Given the description of an element on the screen output the (x, y) to click on. 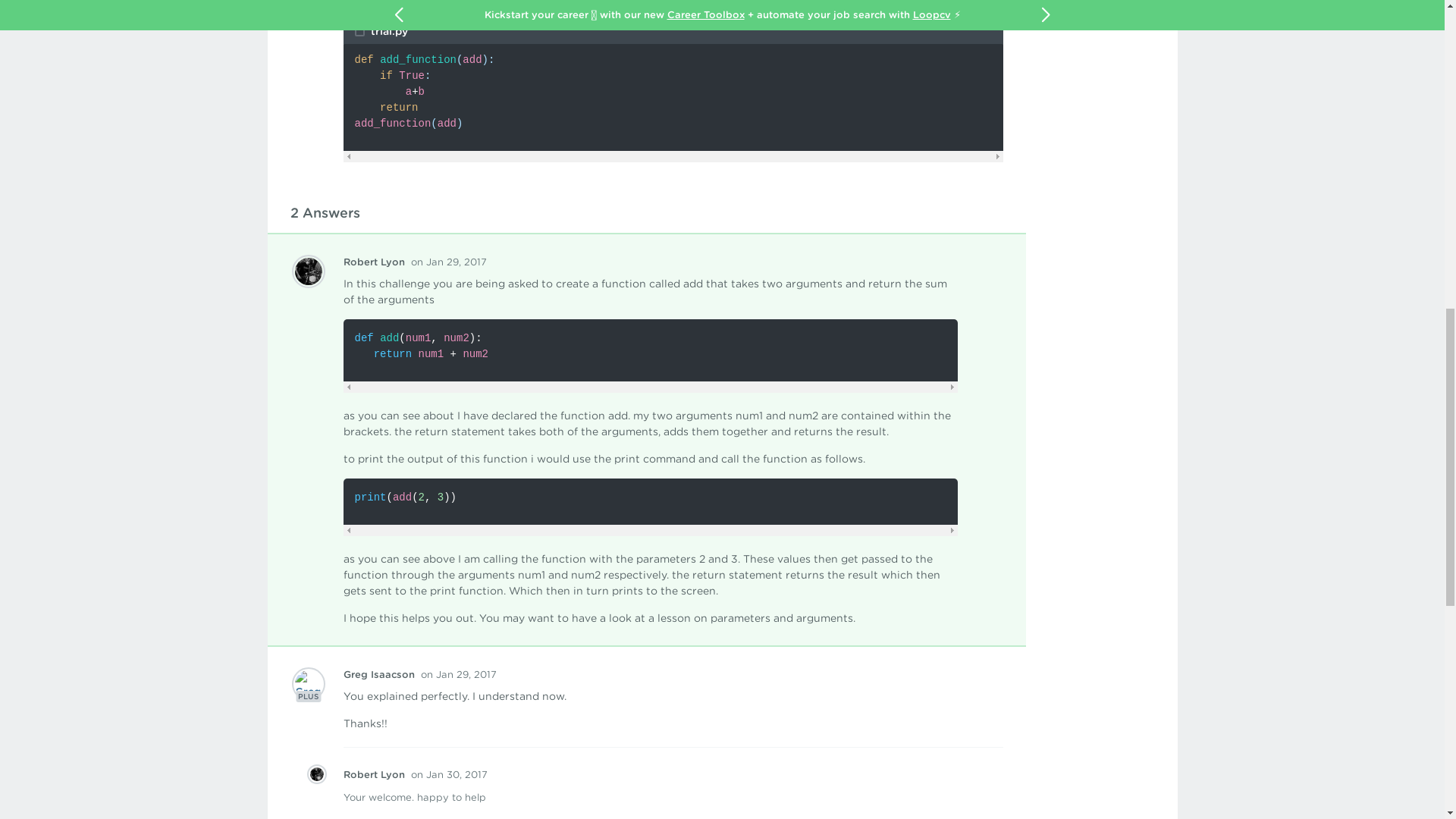
January 29, 2017 at 11:54pm CST (448, 261)
January 30, 2017 at 12:01am CST (448, 774)
January 29, 2017 at 11:58pm CST (458, 674)
